Given the description of an element on the screen output the (x, y) to click on. 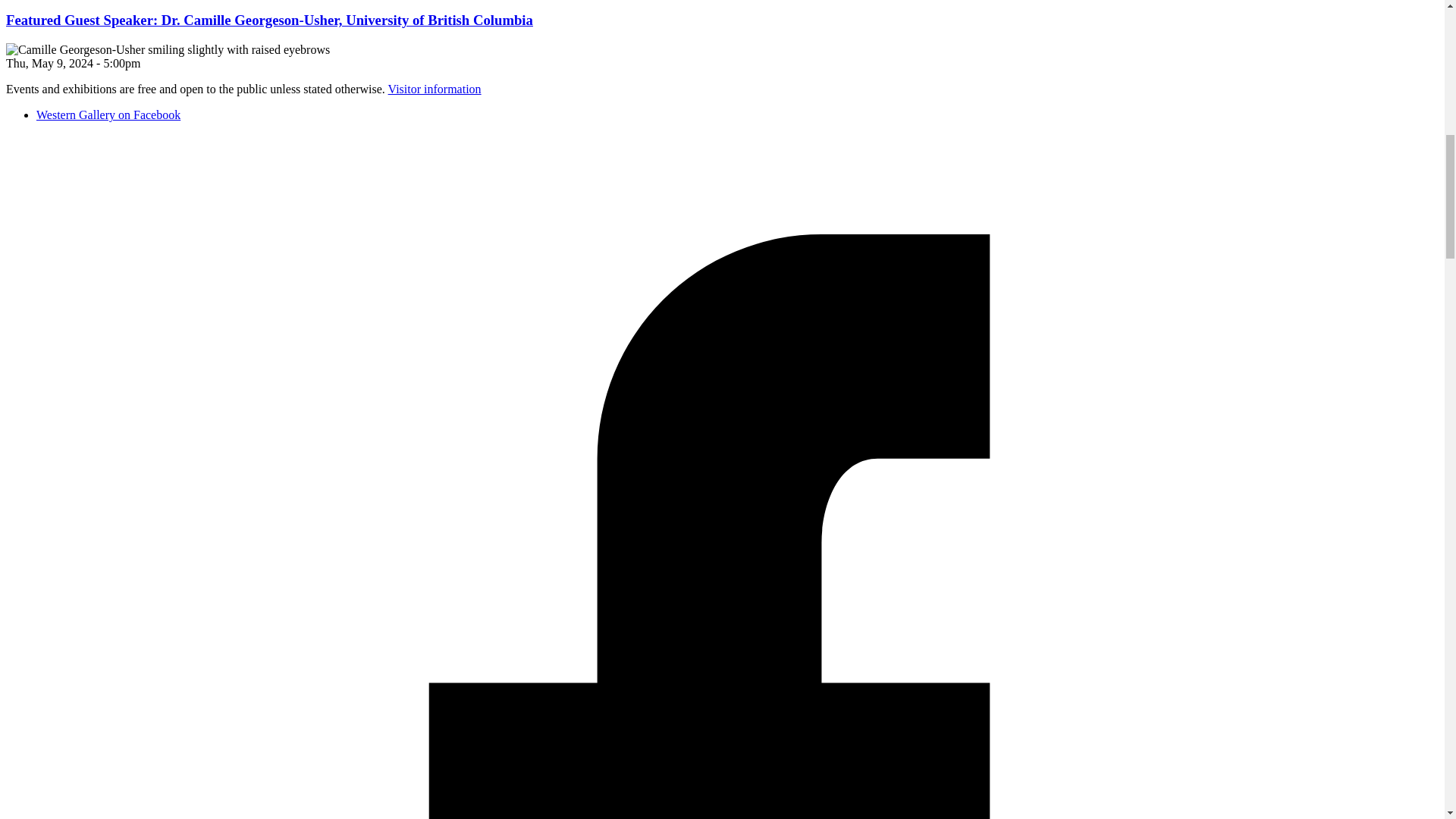
Visitor information (434, 88)
